Given the description of an element on the screen output the (x, y) to click on. 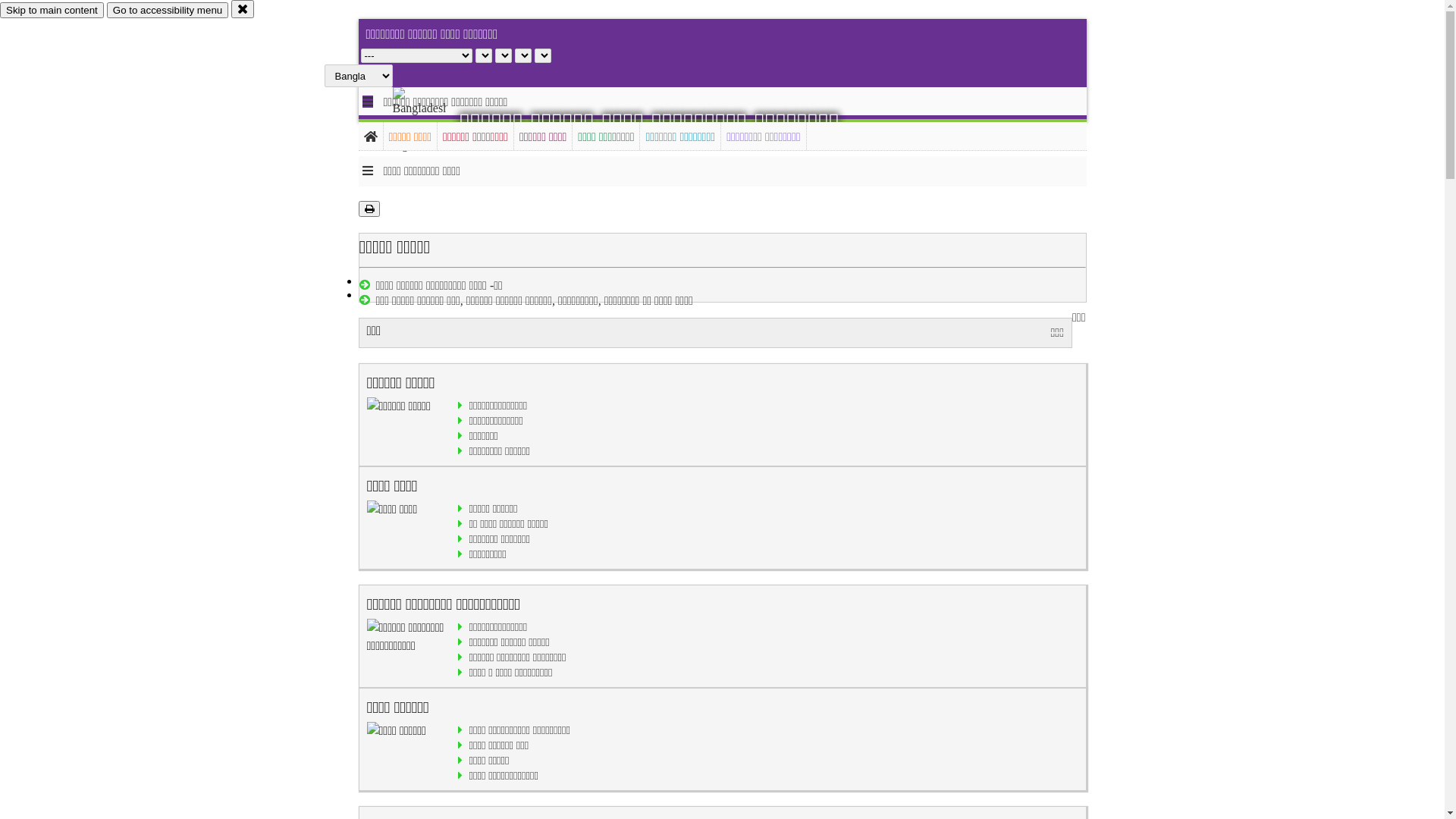
close Element type: hover (242, 9)
Skip to main content Element type: text (51, 10)

                
             Element type: hover (431, 120)
Go to accessibility menu Element type: text (167, 10)
